Given the description of an element on the screen output the (x, y) to click on. 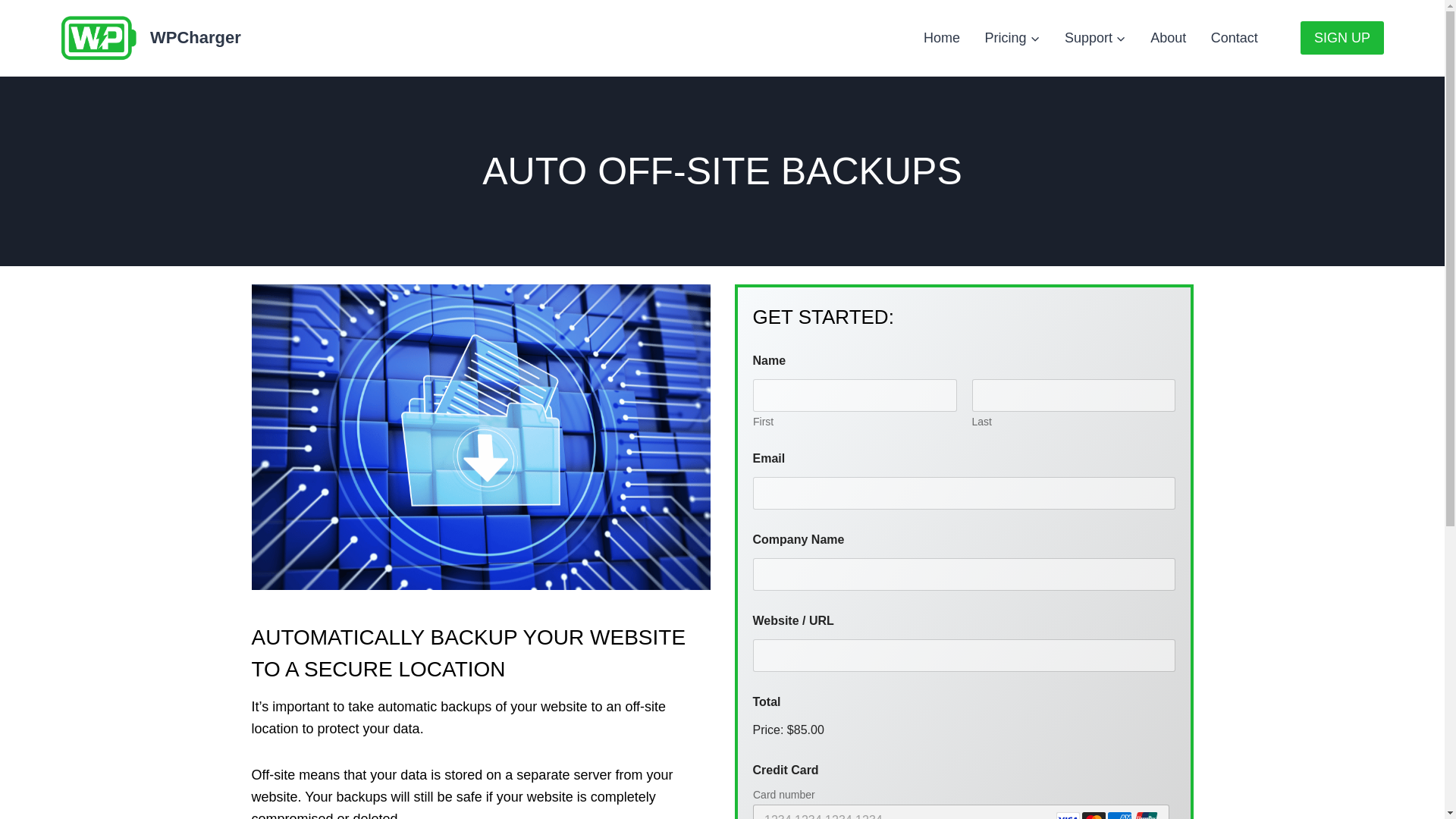
Secure payment input frame (960, 802)
SIGN UP (1342, 37)
Pricing (1011, 37)
WPCharger (151, 37)
About (1168, 37)
Home (941, 37)
Support (1095, 37)
Contact (1233, 37)
